Given the description of an element on the screen output the (x, y) to click on. 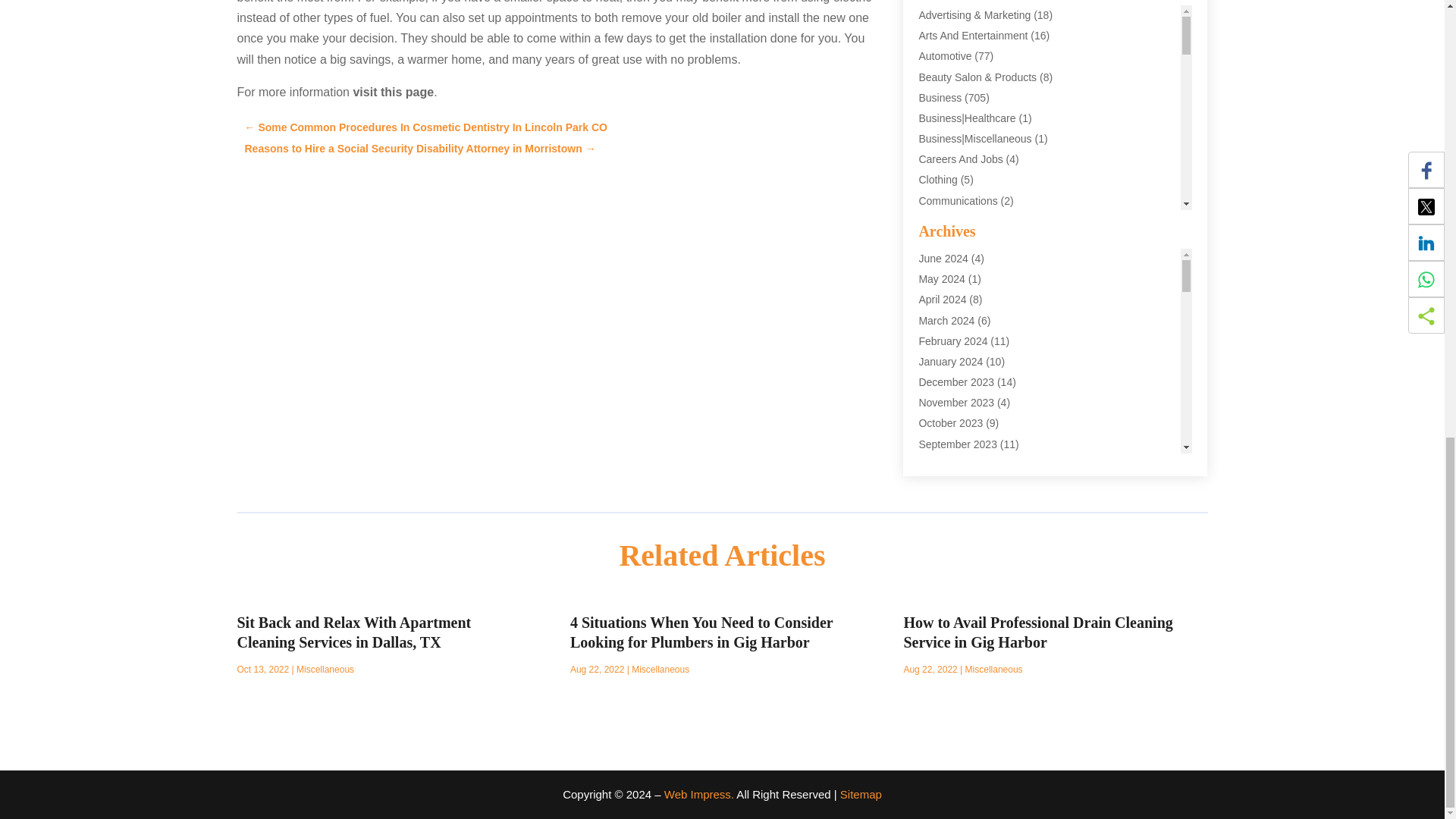
Communications (957, 200)
Automotive (944, 55)
Careers And Jobs (960, 159)
Community (945, 221)
Computer And Internet (971, 241)
Dental (933, 282)
Arts And Entertainment (972, 35)
Construction And Maintenance (990, 262)
Education (941, 304)
Clothing (937, 179)
Business (939, 97)
